Given the description of an element on the screen output the (x, y) to click on. 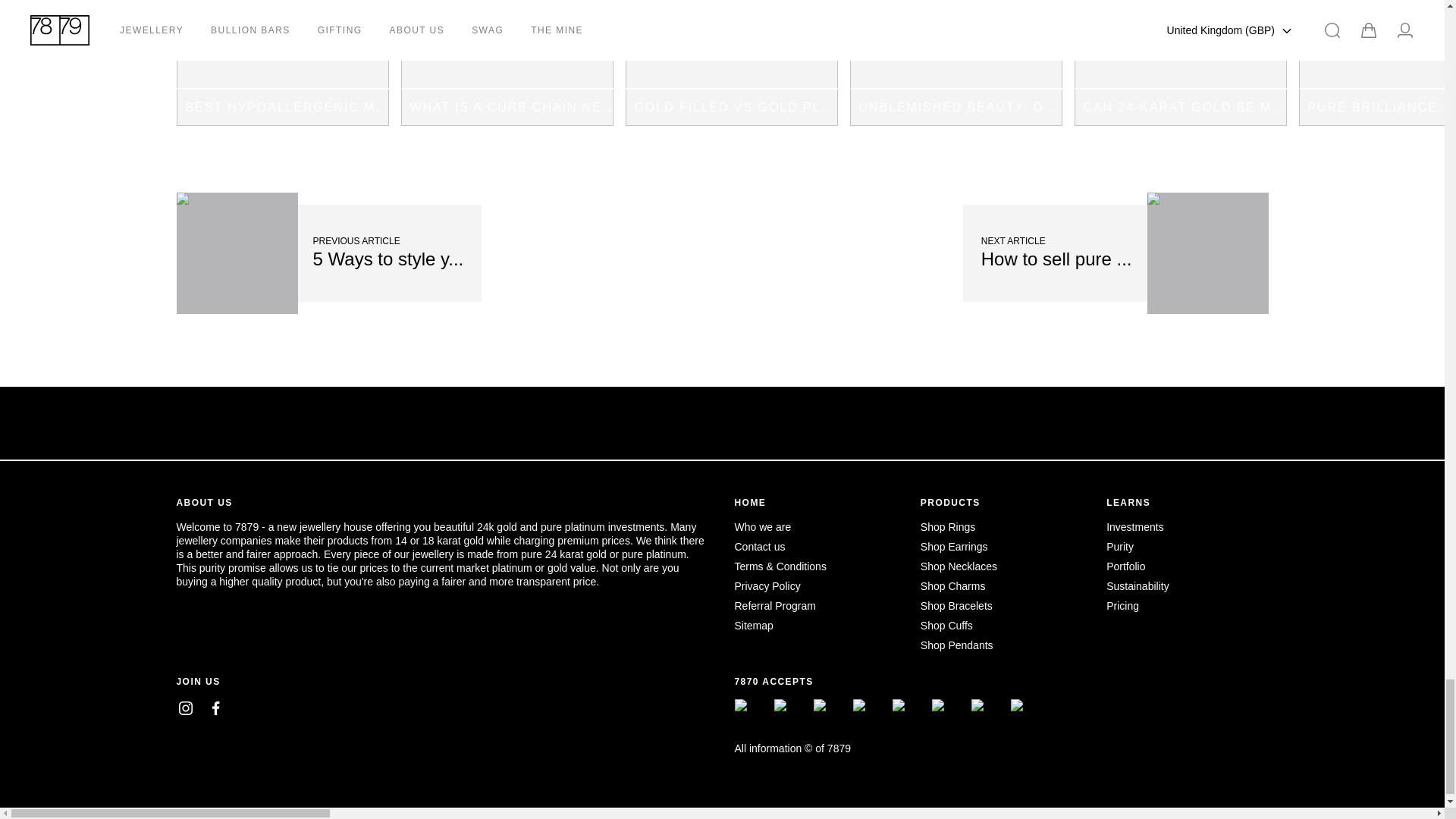
BEST HYPOALLERGENIC METALS FOR JEWELLERY (282, 63)
UNBLEMISHED BEAUTY: DOES PLATINUM TARNISH? (954, 63)
CAN 24-KARAT GOLD BE MADE INTO JEWELLERY? (1179, 63)
WHAT IS A CURB CHAIN NECKLACE? (506, 63)
PURE BRILLIANCE: WHAT IS 24-KARAT GOLD? (1377, 63)
